Given the description of an element on the screen output the (x, y) to click on. 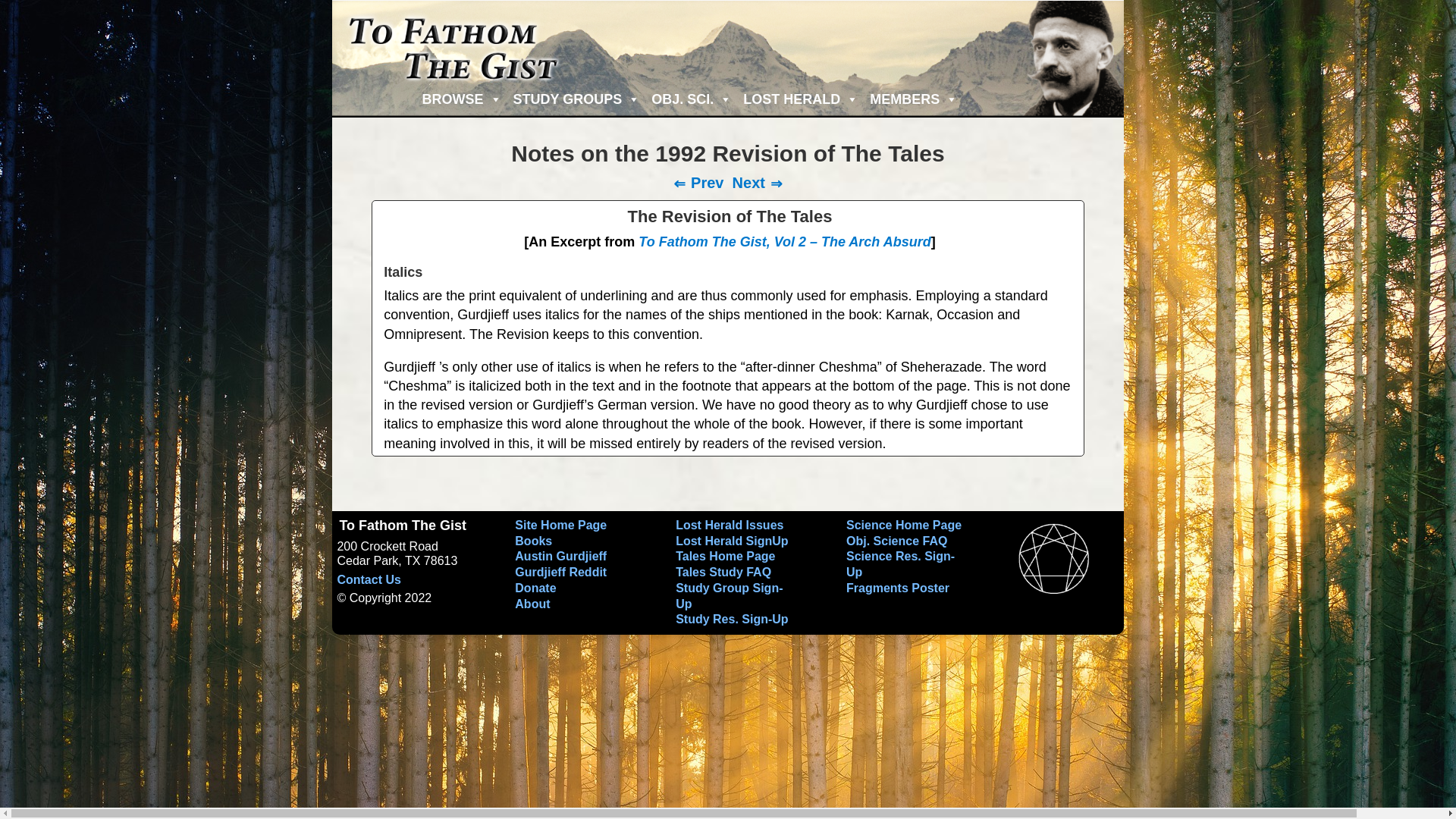
EnneagramWhiteTFTG (1053, 558)
BROWSE (459, 99)
